Given the description of an element on the screen output the (x, y) to click on. 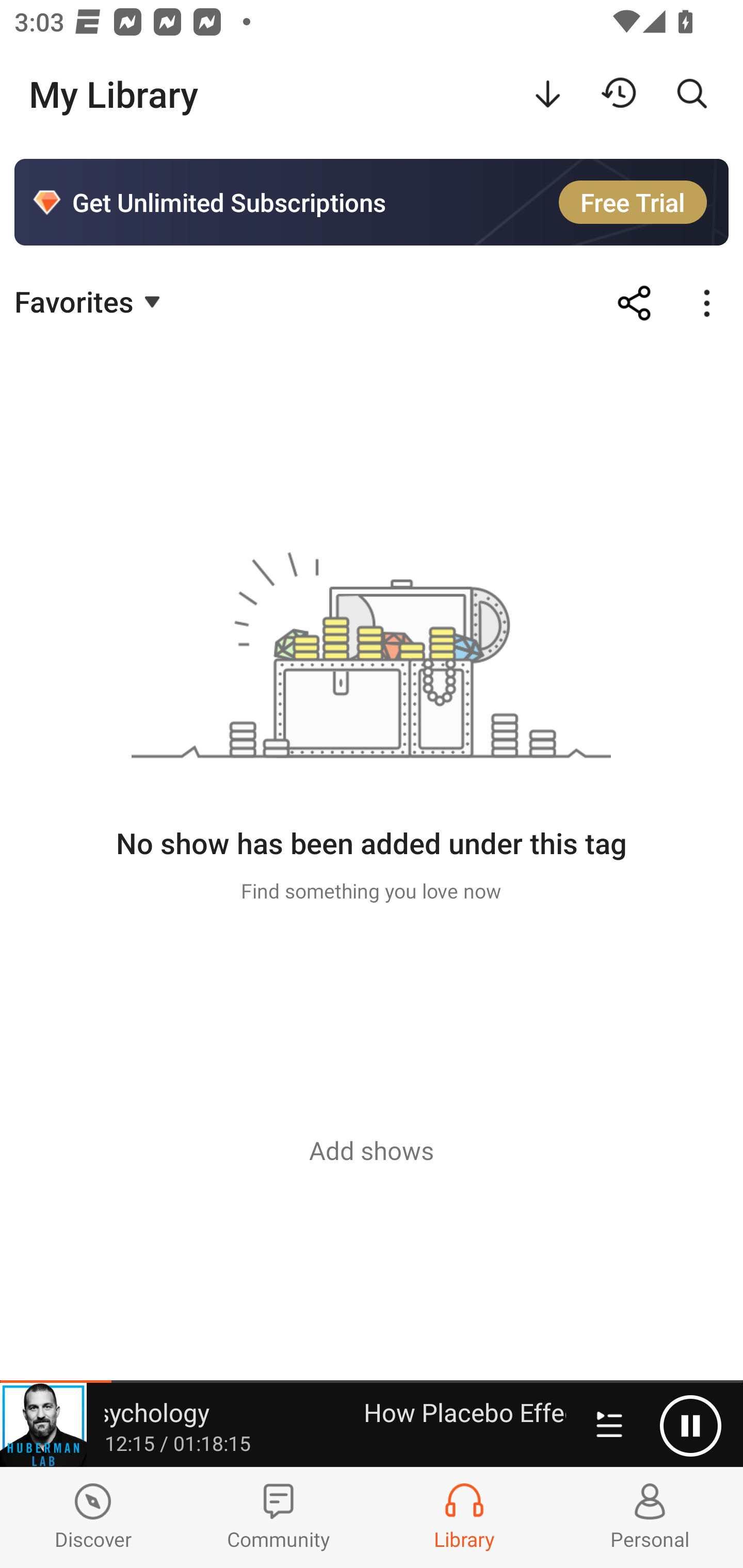
Get Unlimited Subscriptions Free Trial (371, 202)
Free Trial (632, 202)
Favorites (90, 300)
Add shows (371, 1150)
Pause (690, 1425)
Discover (92, 1517)
Community (278, 1517)
Library (464, 1517)
Profiles and Settings Personal (650, 1517)
